Given the description of an element on the screen output the (x, y) to click on. 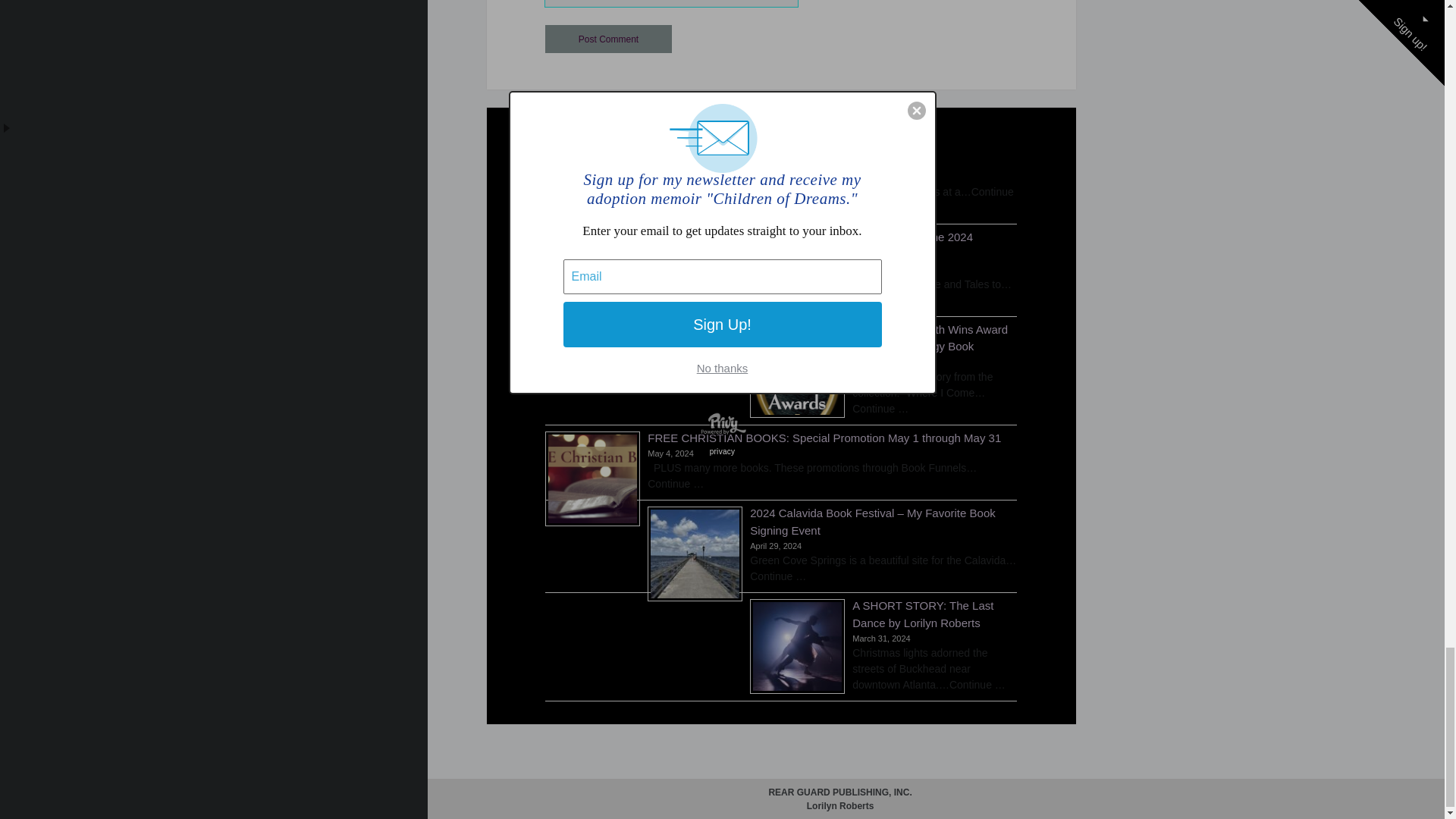
Post Comment (607, 39)
